Given the description of an element on the screen output the (x, y) to click on. 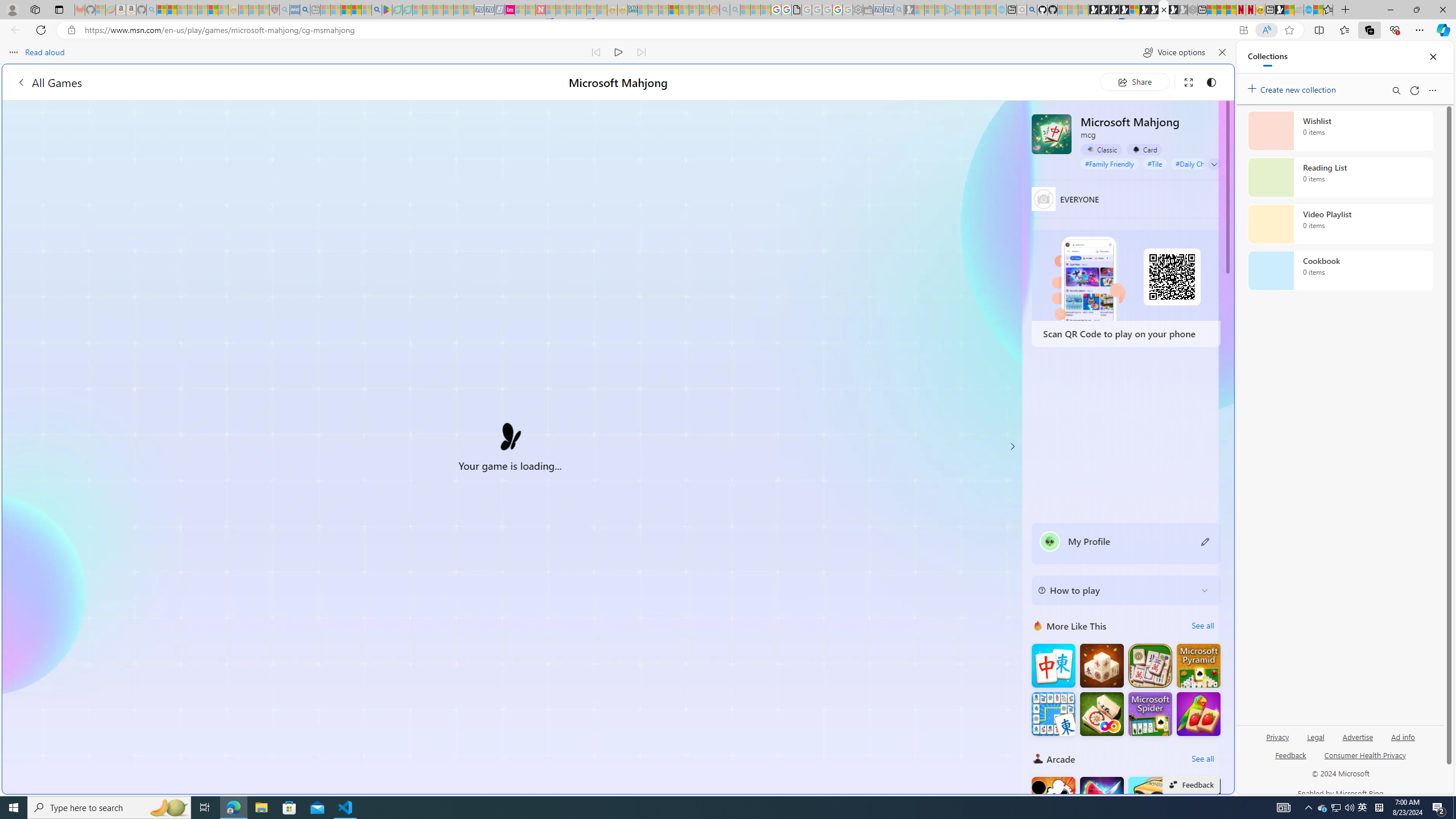
Close read aloud (1221, 52)
Privacy (1277, 741)
Close (1432, 56)
Kinda Frugal - MSN - Sleeping (684, 9)
Home | Sky Blue Bikes - Sky Blue Bikes - Sleeping (1001, 9)
See all (1202, 758)
Collections (1369, 29)
Classic (1101, 149)
